Given the description of an element on the screen output the (x, y) to click on. 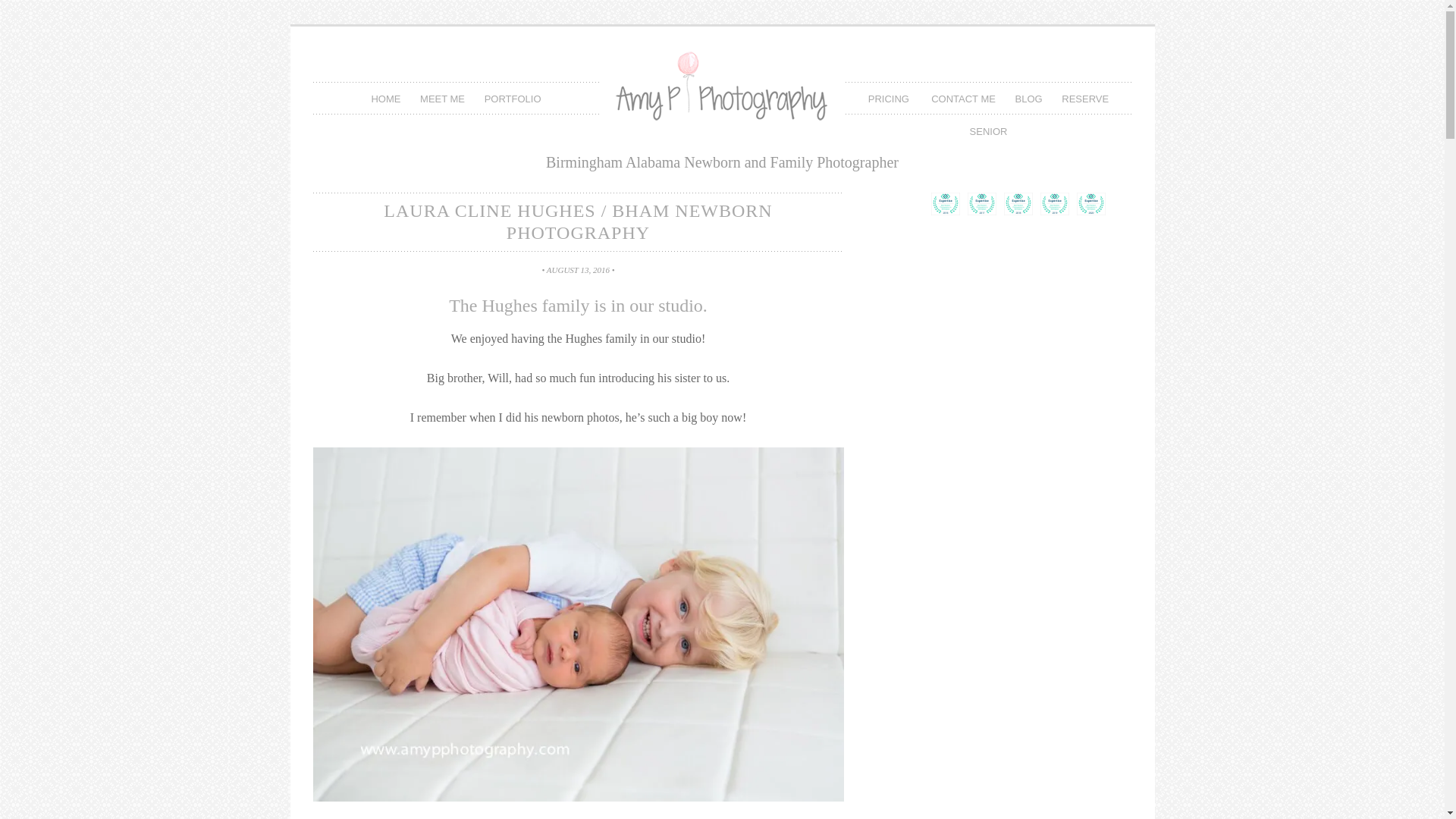
BLOG (1029, 97)
SENIOR (988, 130)
CONTACT ME (963, 97)
PRICING  (890, 97)
RESERVE (1084, 97)
AMY P PHOTOGRAPHY (722, 100)
MEET ME (442, 97)
HOME (385, 97)
PORTFOLIO (513, 97)
